Given the description of an element on the screen output the (x, y) to click on. 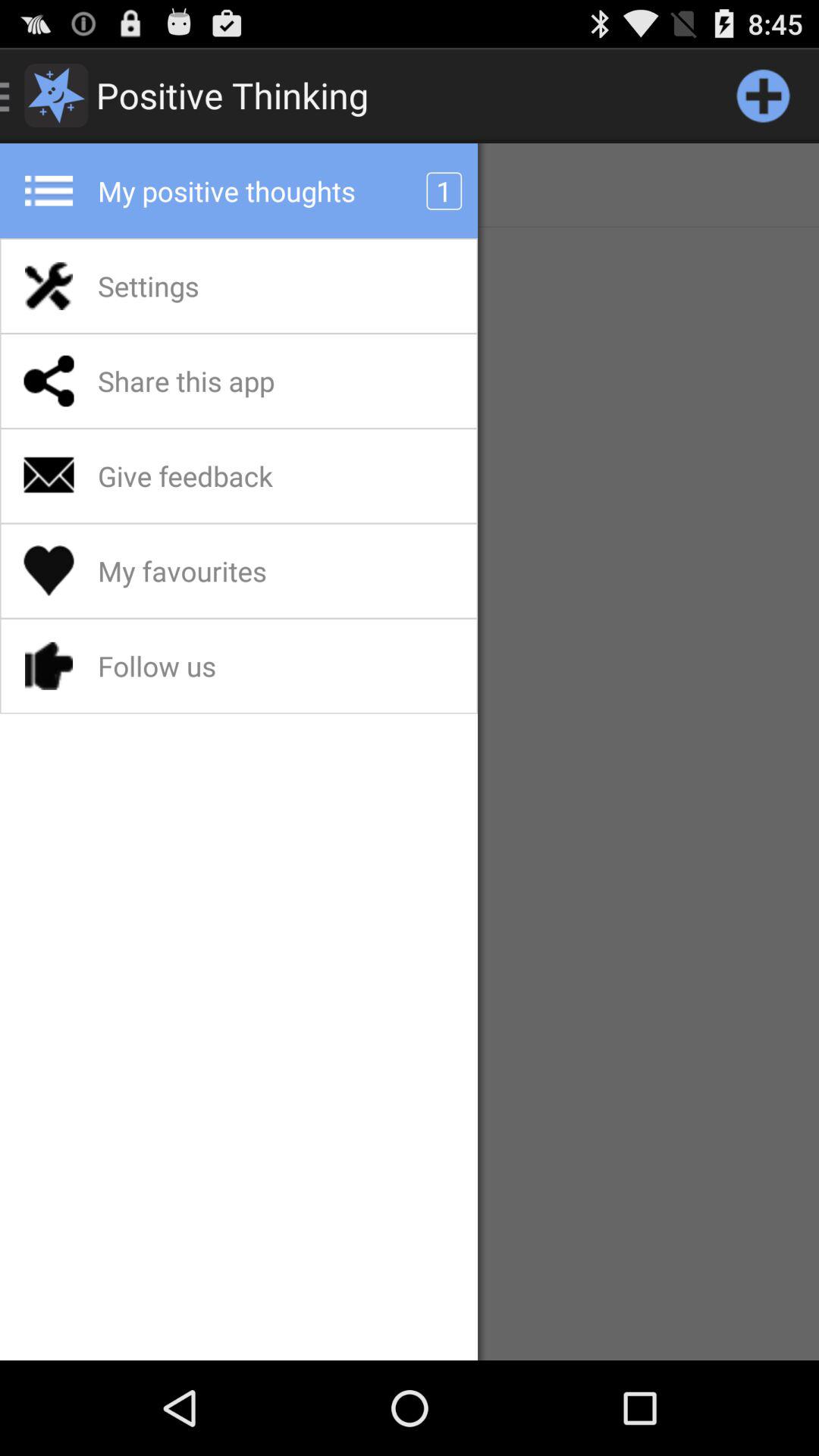
more options (763, 95)
